Given the description of an element on the screen output the (x, y) to click on. 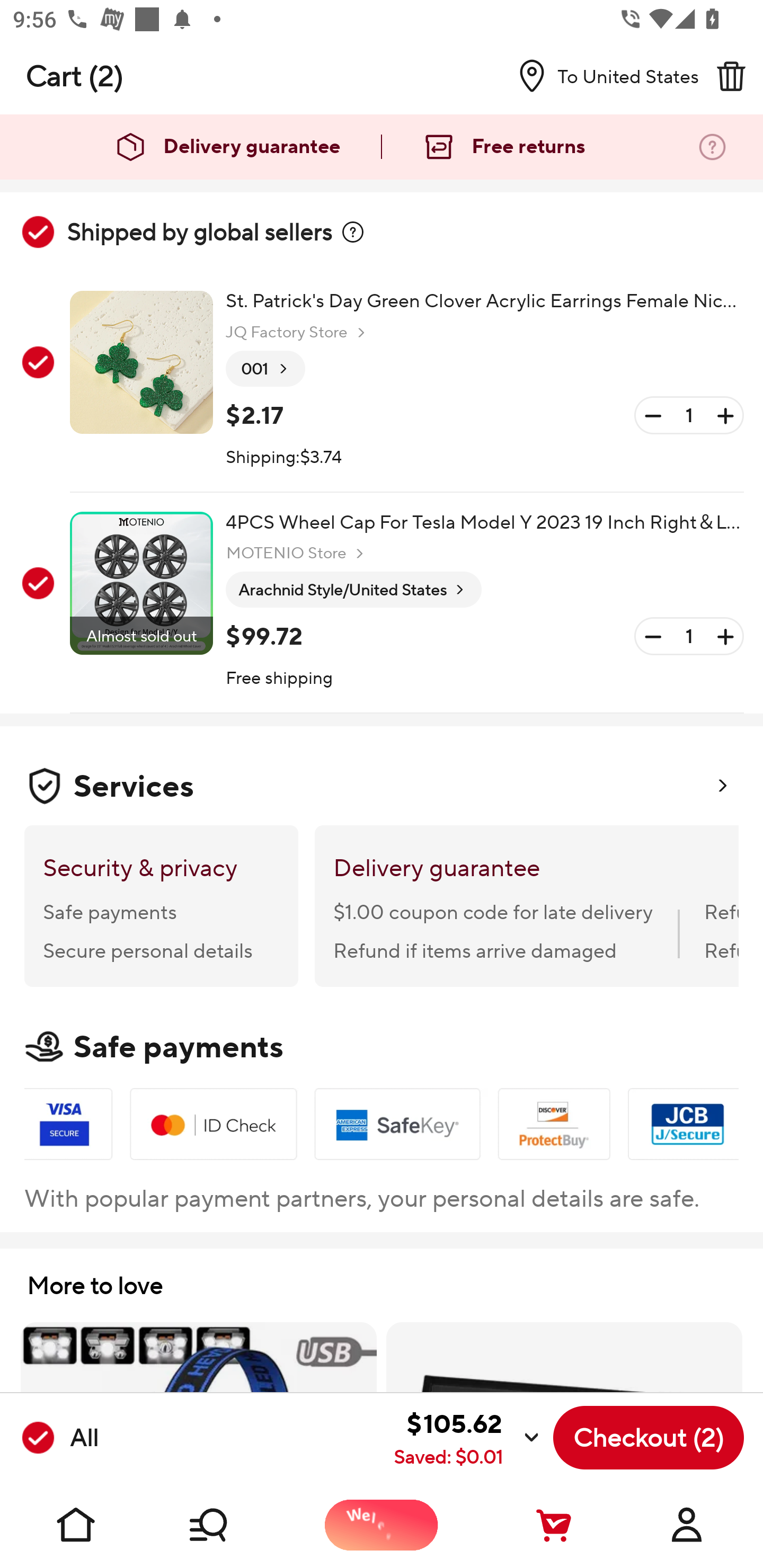
 To United States (601, 75)
 (730, 75)
 (352, 231)
JQ Factory Store (297, 333)
001 (265, 369)
1 (688, 415)
MOTENIO Store (296, 553)
Arachnid Style/United States (353, 590)
1 (688, 636)
$_105.62 Saved: $0.01  (324, 1437)
Checkout (2) (648, 1437)
Home (76, 1524)
Shop (228, 1524)
Account (686, 1524)
